Given the description of an element on the screen output the (x, y) to click on. 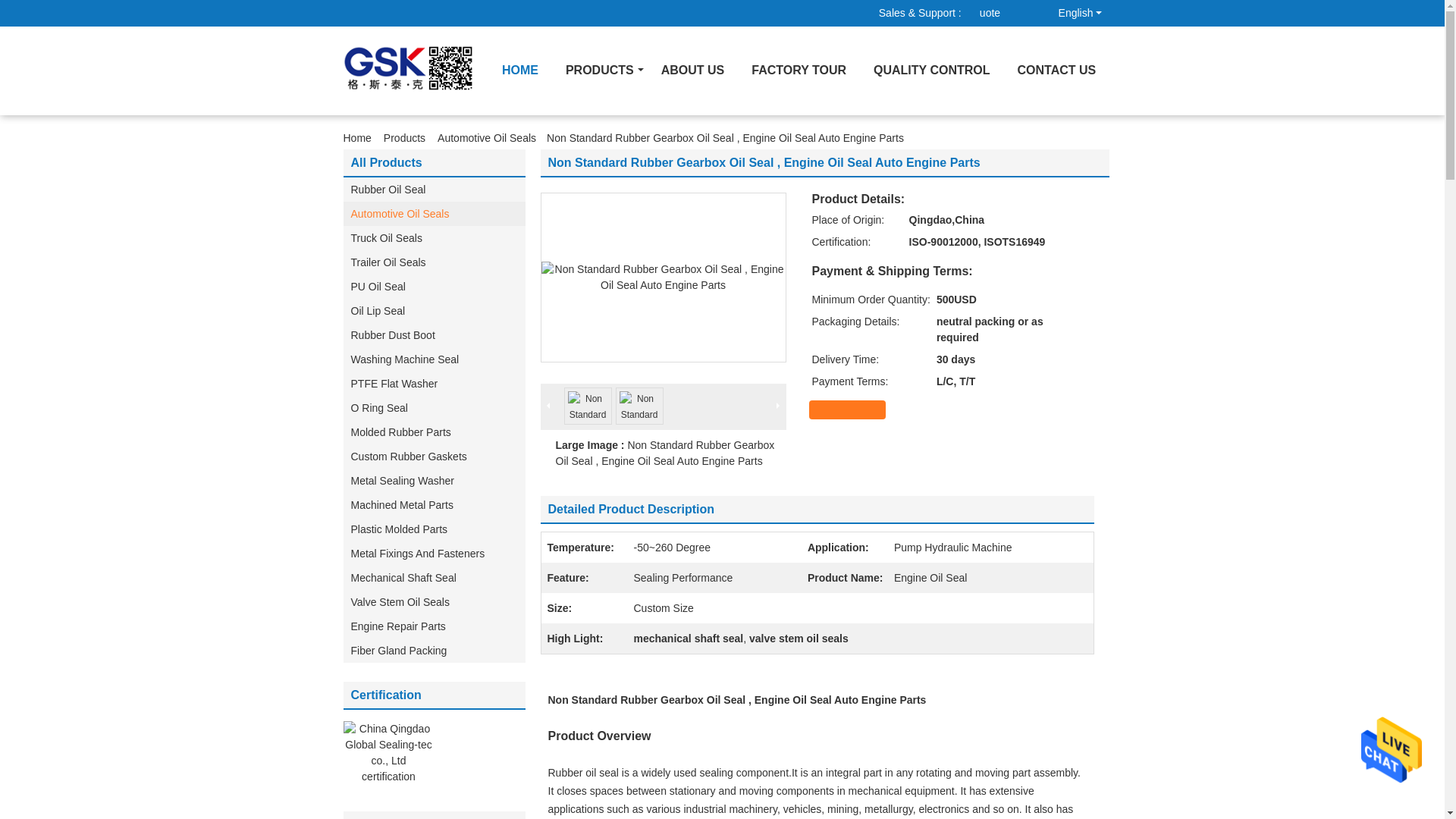
Qingdao Global Sealing-tec co., Ltd (1000, 13)
Request A Quote (1000, 13)
English (1069, 9)
HOME (520, 70)
PRODUCTS (599, 70)
